Given the description of an element on the screen output the (x, y) to click on. 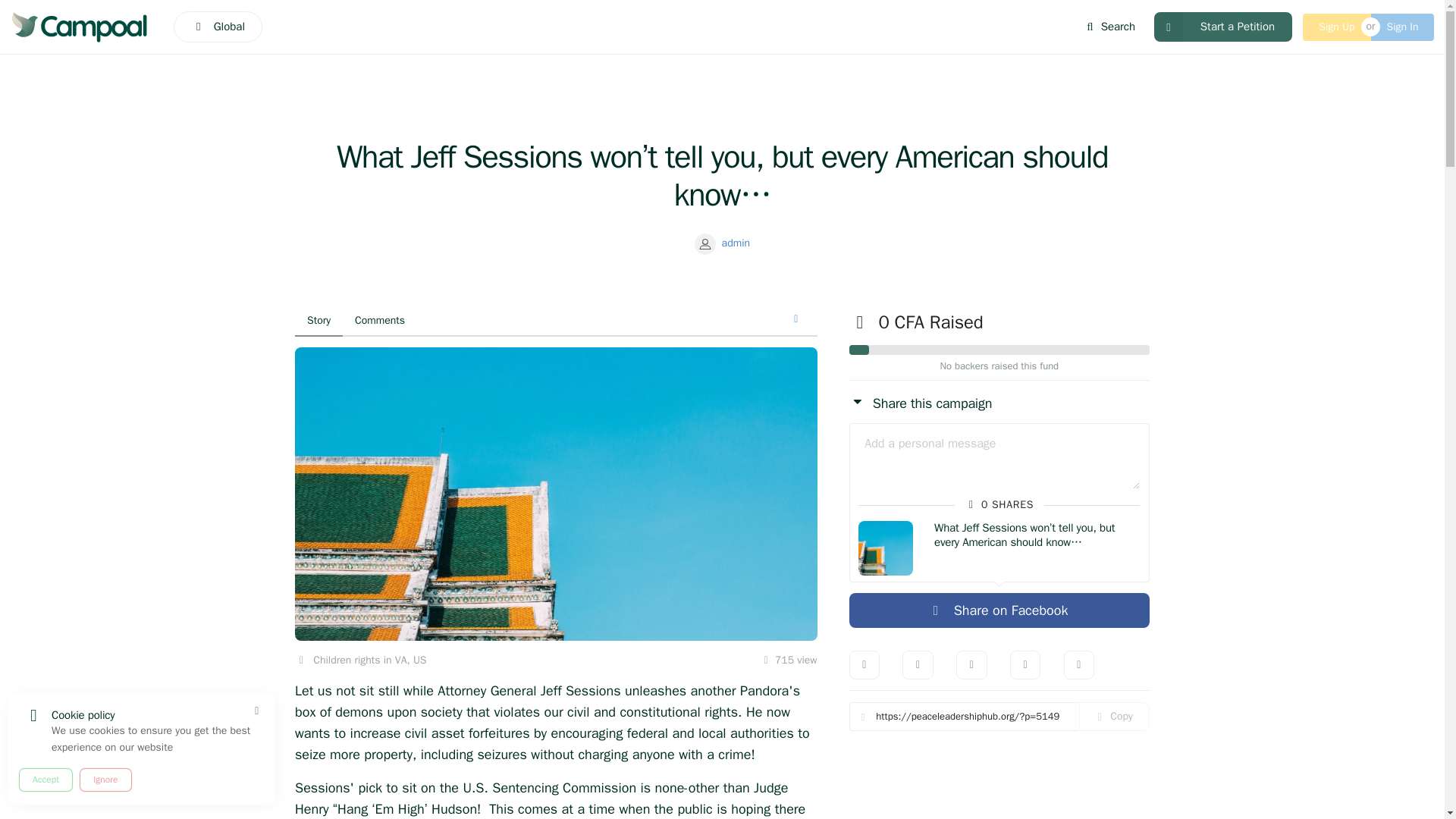
Story (318, 321)
Comments (379, 321)
Children rights (346, 659)
admin (721, 242)
Start a Petition (1223, 26)
Sign In (1402, 26)
Search (1109, 26)
Sign Up (1336, 26)
